Given the description of an element on the screen output the (x, y) to click on. 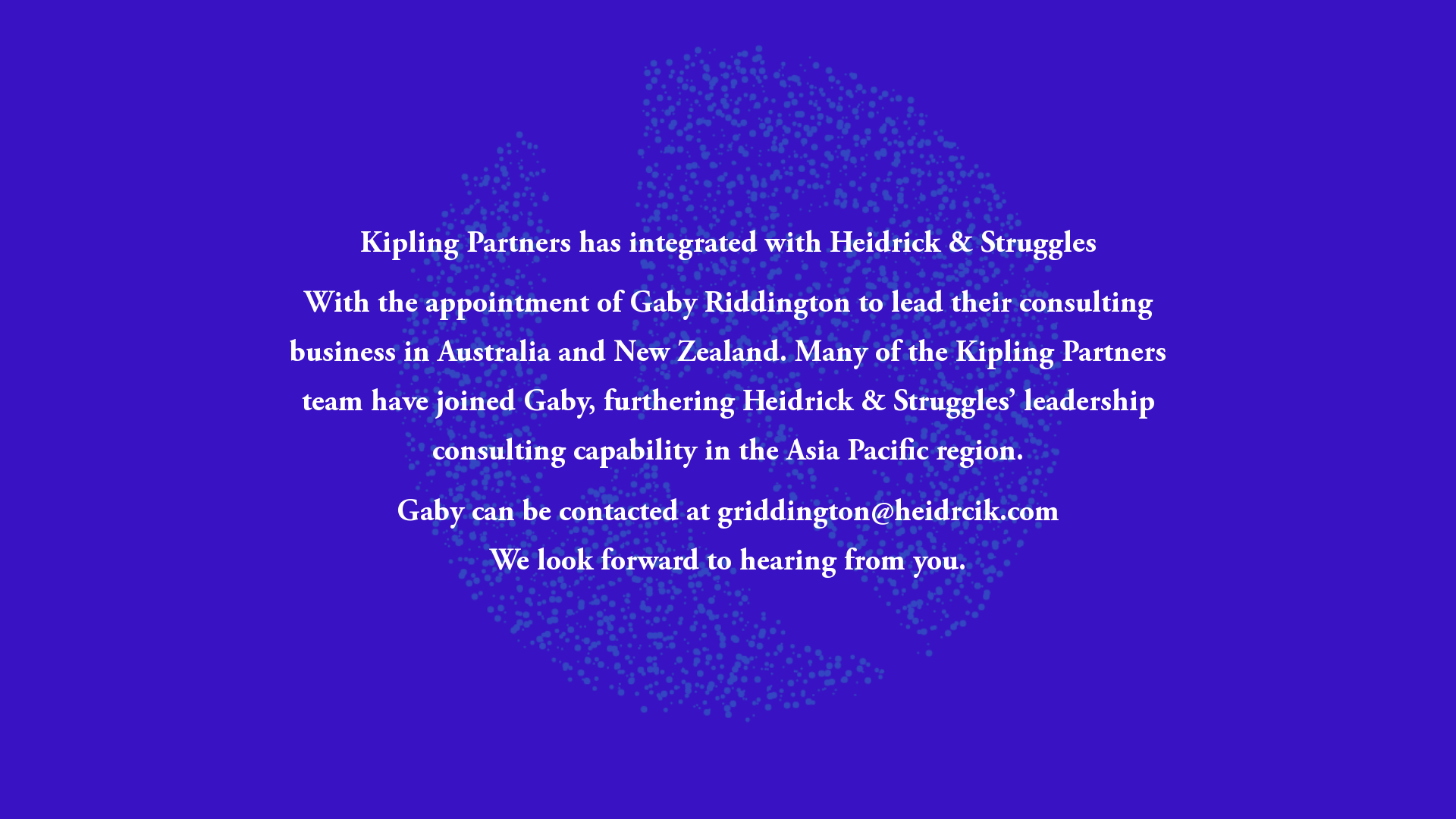
griddington@heidrcik.com Element type: text (888, 513)
